Given the description of an element on the screen output the (x, y) to click on. 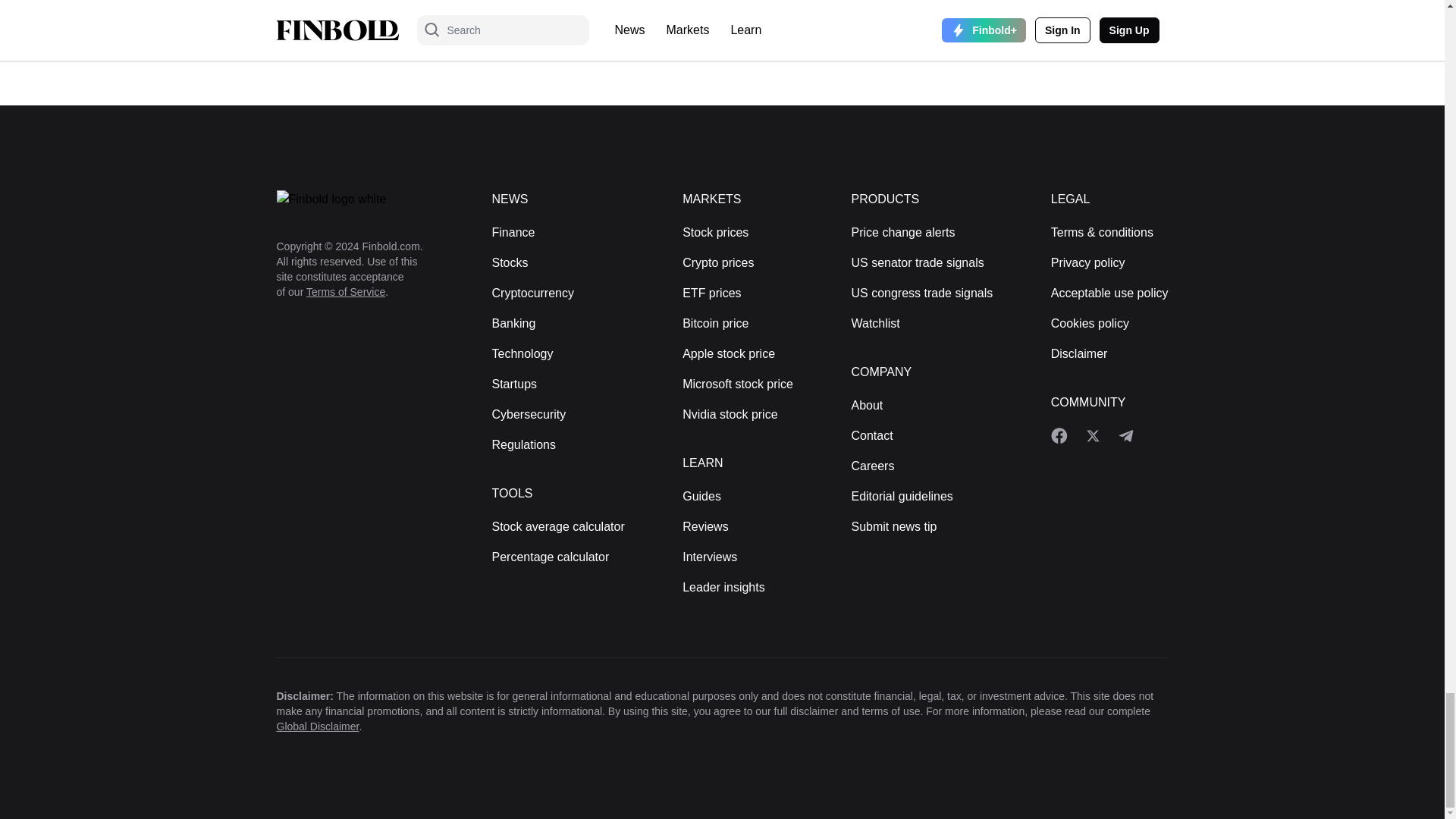
Regulation News (524, 444)
Banking News (513, 323)
Percentage calculator (550, 556)
Cryptocurrency News (532, 292)
Cybersecurity News (529, 413)
Stocks News (509, 262)
Finance News (513, 232)
Startup News (514, 383)
Stock average calculator (558, 526)
Technology News (522, 353)
Finbold homepage (359, 199)
